Given the description of an element on the screen output the (x, y) to click on. 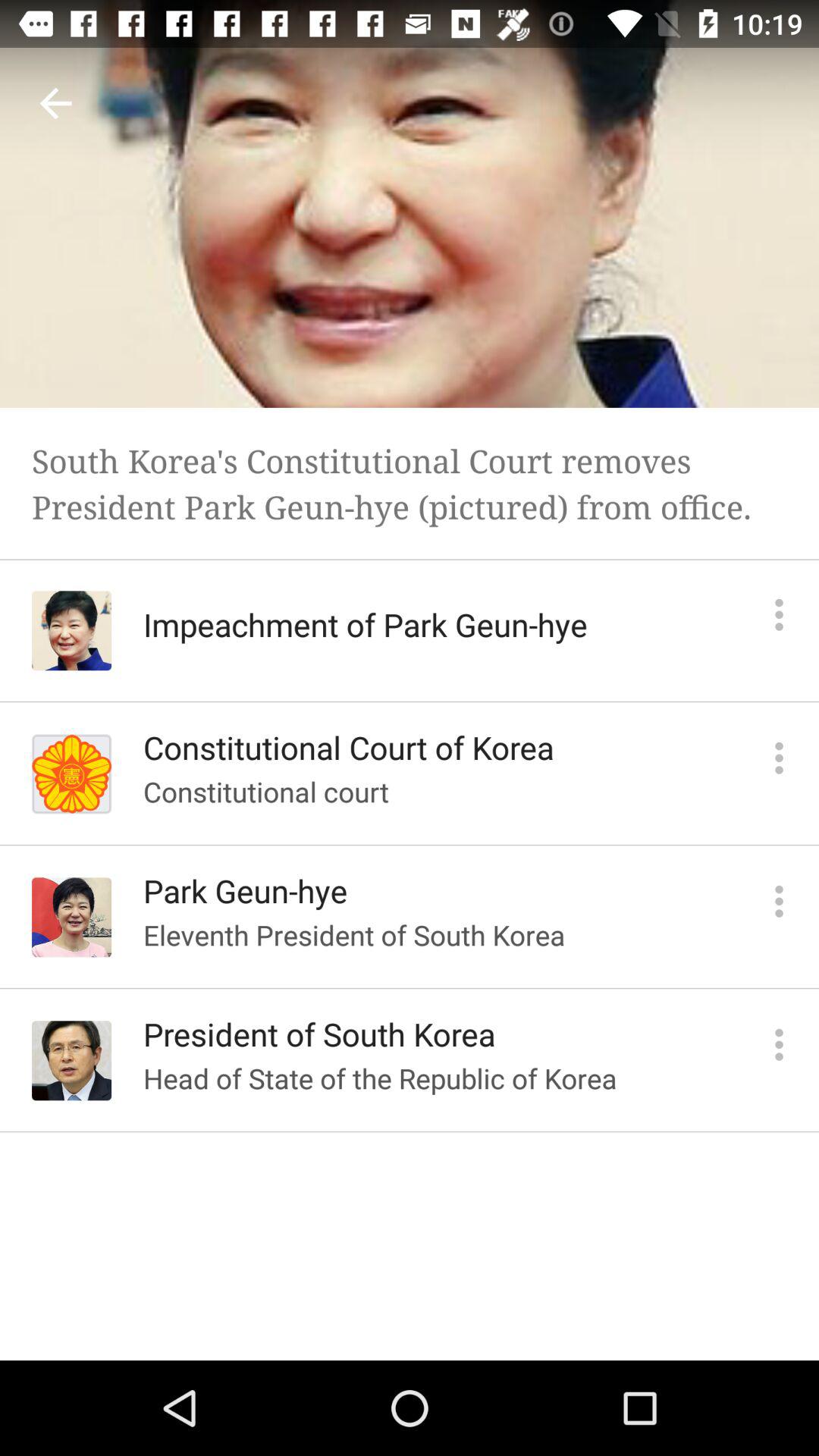
turn on icon at the top left corner (55, 103)
